Given the description of an element on the screen output the (x, y) to click on. 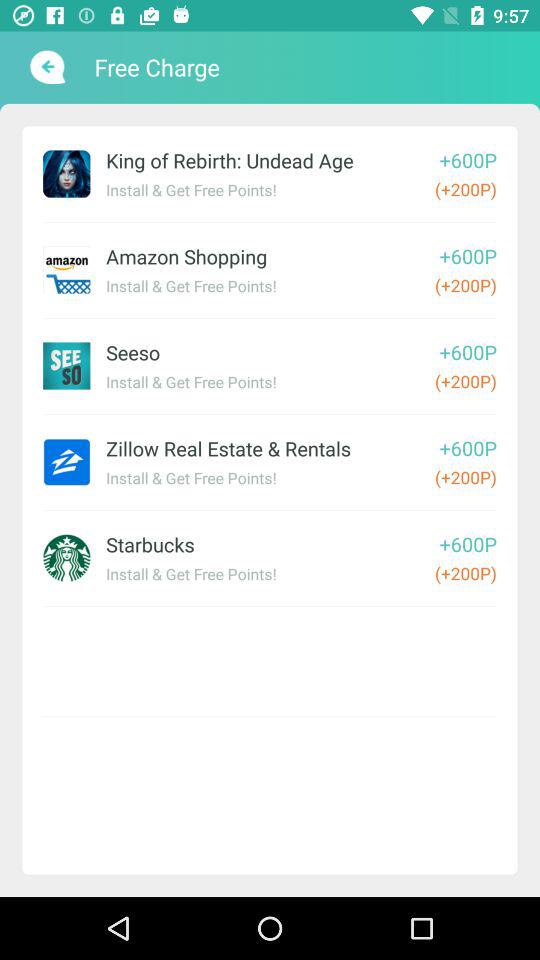
go back (45, 67)
